Given the description of an element on the screen output the (x, y) to click on. 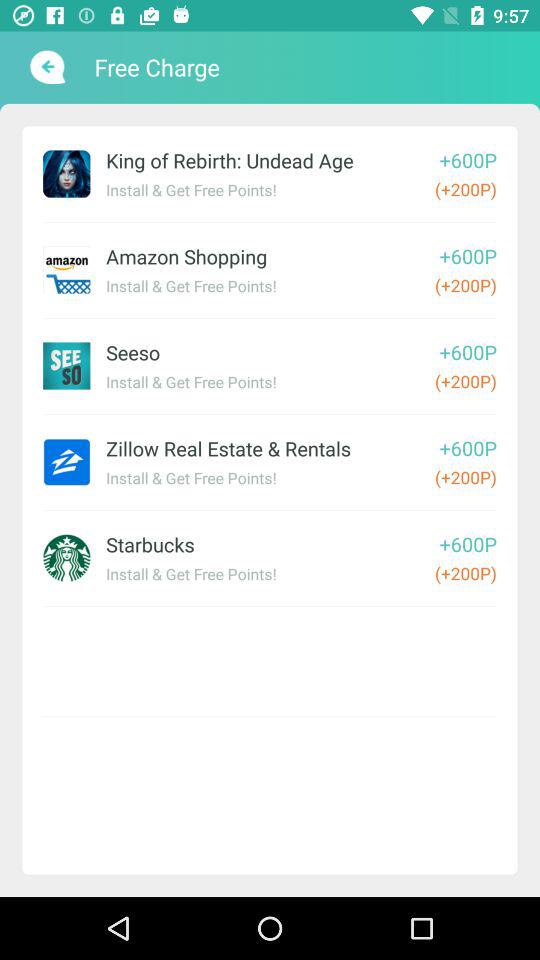
go back (45, 67)
